Given the description of an element on the screen output the (x, y) to click on. 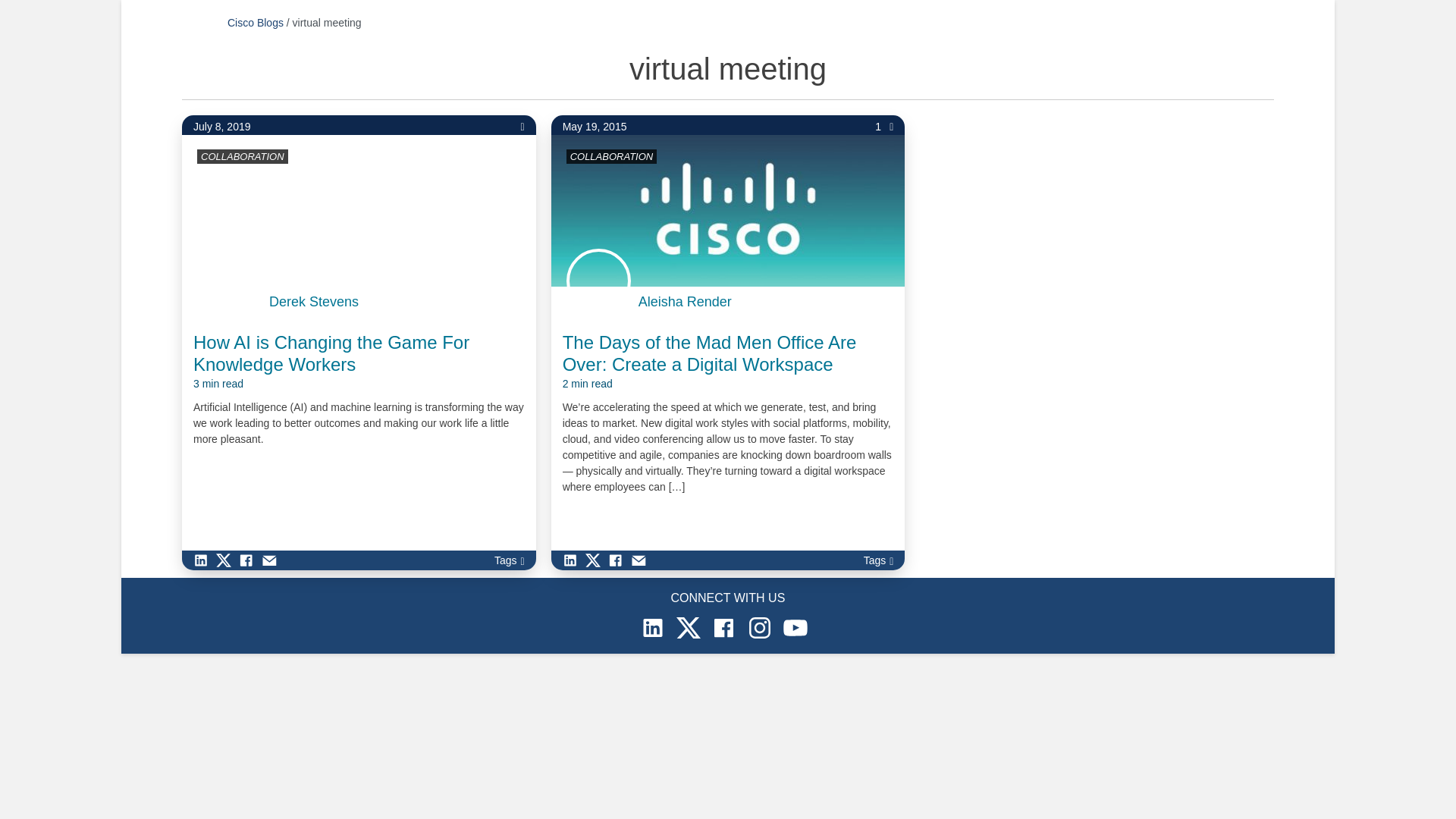
Posts by Aleisha Render (685, 302)
Derek Stevens (313, 302)
COLLABORATION (611, 156)
Aleisha Render (685, 302)
1 (884, 126)
How AI is Changing the Game For Knowledge Workers (358, 361)
COLLABORATION (241, 156)
Cisco Blogs (255, 22)
Posts by Derek Stevens (313, 302)
